Given the description of an element on the screen output the (x, y) to click on. 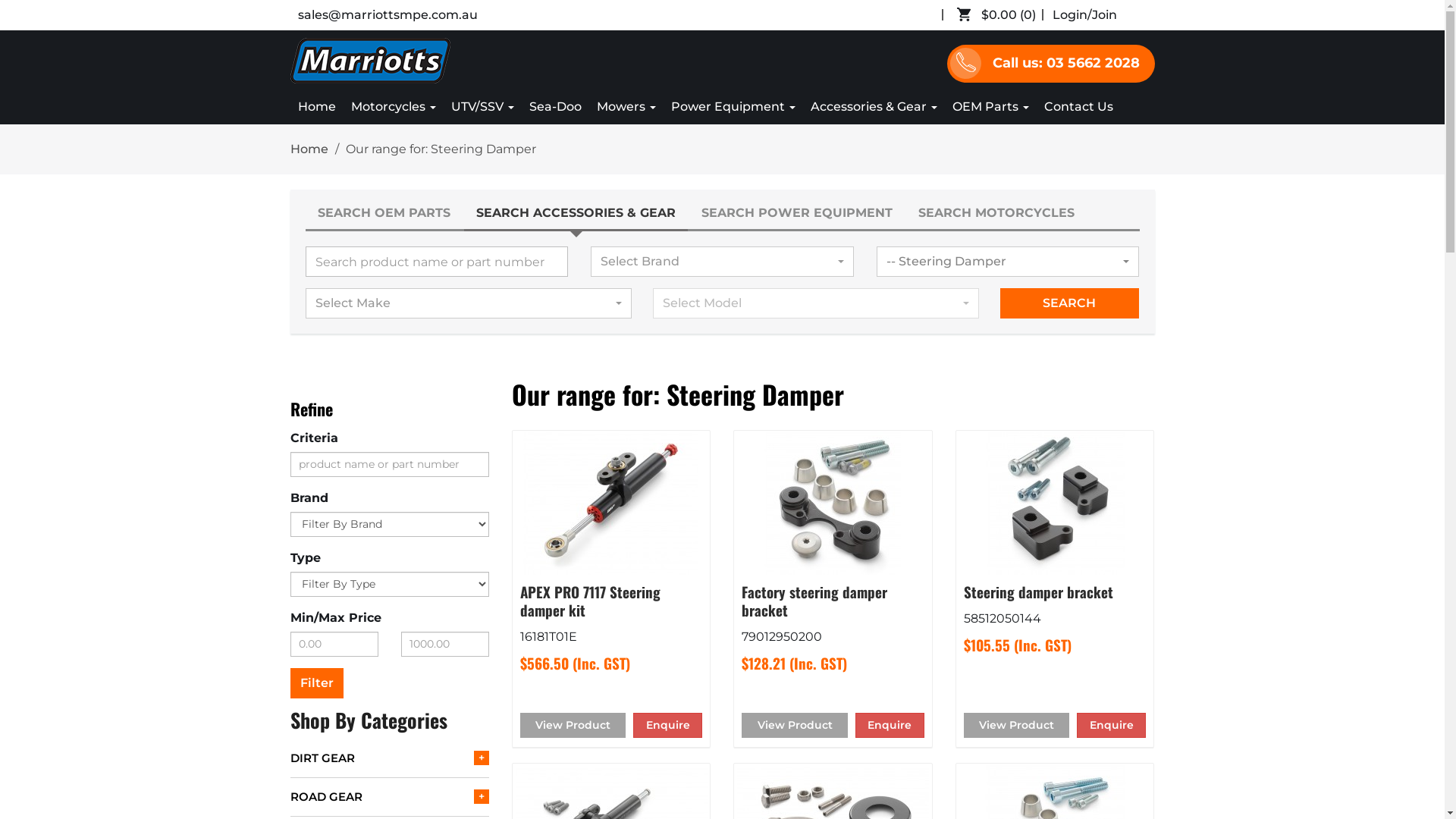
APEX PRO 7117 Steering damper kit Element type: text (590, 600)
sales@marriottsmpe.com.au Element type: text (386, 15)
+ Element type: text (481, 757)
Select Make Element type: text (467, 303)
Steering damper bracket Element type: text (1038, 591)
SEARCH Element type: text (1069, 303)
Mowers Element type: text (625, 106)
Factory steering damper bracket Element type: hover (832, 502)
+ Element type: text (481, 796)
SEARCH MOTORCYCLES Element type: text (995, 213)
UTV/SSV Element type: text (481, 106)
Motorcycles Element type: text (392, 106)
ROAD GEAR Element type: text (389, 796)
Enquire Element type: text (889, 724)
Sea-Doo Element type: text (555, 106)
APEX PRO 7117 Steering damper kit Element type: hover (610, 502)
Select Model Element type: text (815, 303)
Home Element type: text (308, 148)
Factory steering damper bracket Element type: text (814, 600)
-- Steering Damper Element type: text (1007, 261)
Contact Us Element type: text (1077, 106)
$0.00 (0) Element type: text (1000, 15)
Login/Join Element type: text (1084, 15)
Select Brand Element type: text (721, 261)
SEARCH POWER EQUIPMENT Element type: text (795, 213)
View Product Element type: text (794, 724)
OEM Parts Element type: text (990, 106)
DIRT GEAR Element type: text (389, 758)
Enquire Element type: text (1110, 724)
Accessories & Gear Element type: text (873, 106)
Power Equipment Element type: text (732, 106)
View Product Element type: text (572, 724)
Call us: 03 5662 2028 Element type: text (1050, 62)
Filter Element type: text (315, 683)
SEARCH ACCESSORIES & GEAR Element type: text (575, 214)
Home Element type: text (315, 106)
Enquire Element type: text (667, 724)
Steering damper bracket Element type: hover (1054, 502)
SEARCH OEM PARTS Element type: text (382, 213)
View Product Element type: text (1016, 724)
